Given the description of an element on the screen output the (x, y) to click on. 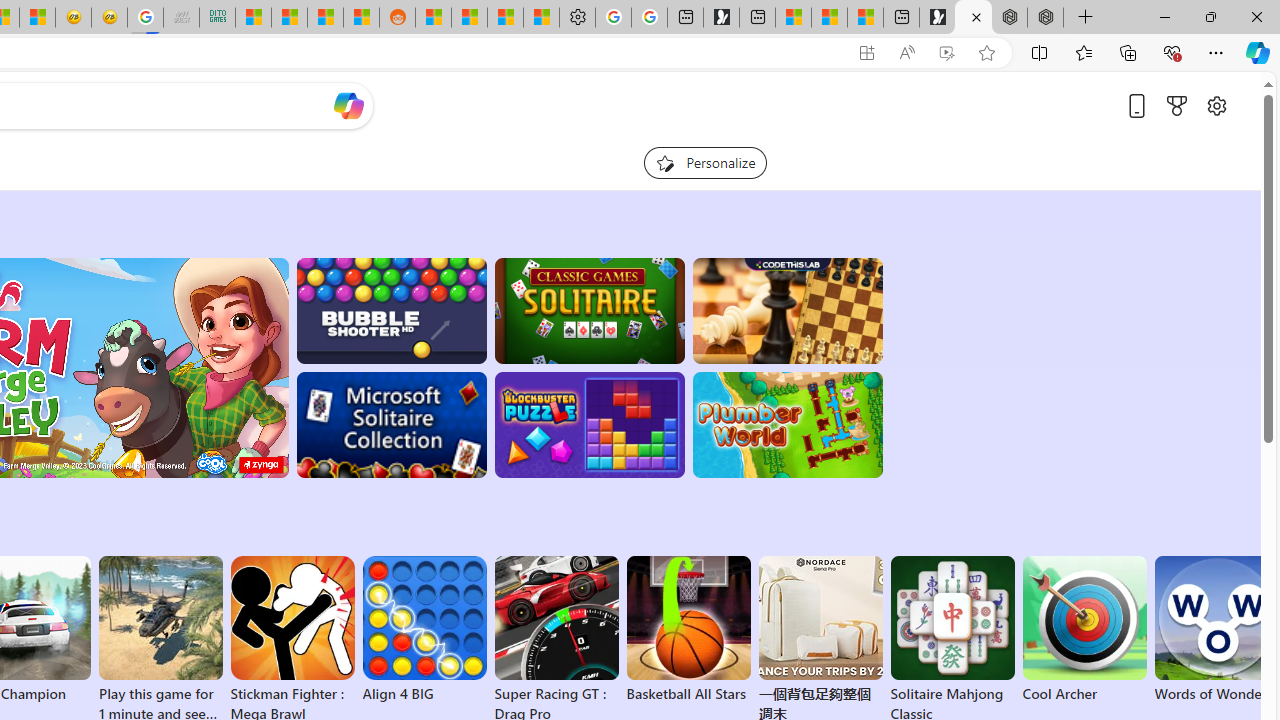
Navy Quest (180, 17)
Align 4 BIG (424, 629)
MSNBC - MSN (253, 17)
Enhance video (946, 53)
Microsoft Solitaire Collection (390, 425)
